Given the description of an element on the screen output the (x, y) to click on. 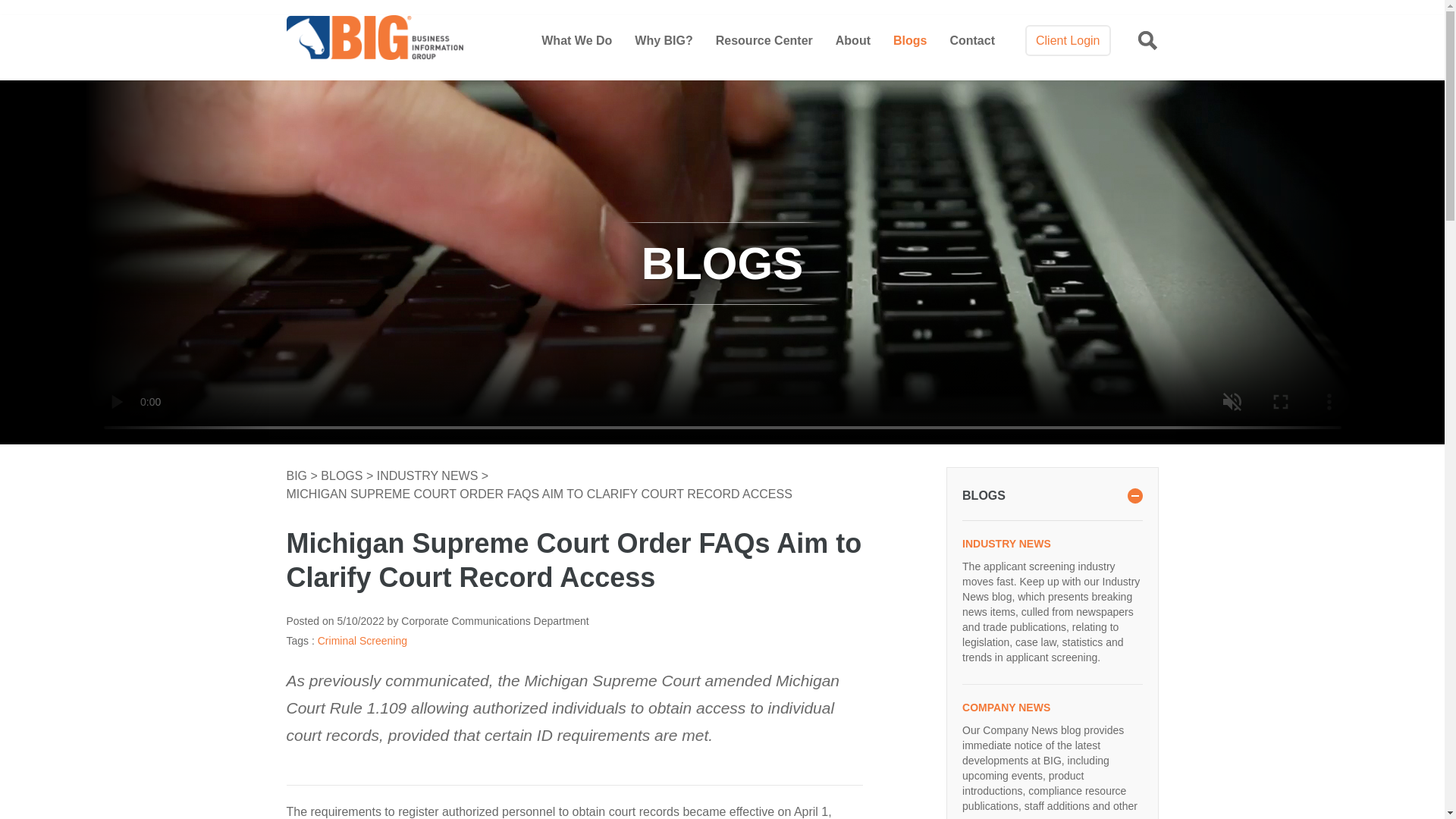
What We Do (576, 40)
INDUSTRY NEWS (429, 475)
COMPANY NEWS (1051, 707)
BLOGS (343, 475)
BIG (298, 475)
Client Login (1067, 40)
Blogs (909, 40)
Resource Center (764, 40)
Contact (971, 40)
INDUSTRY NEWS (1051, 543)
